Given the description of an element on the screen output the (x, y) to click on. 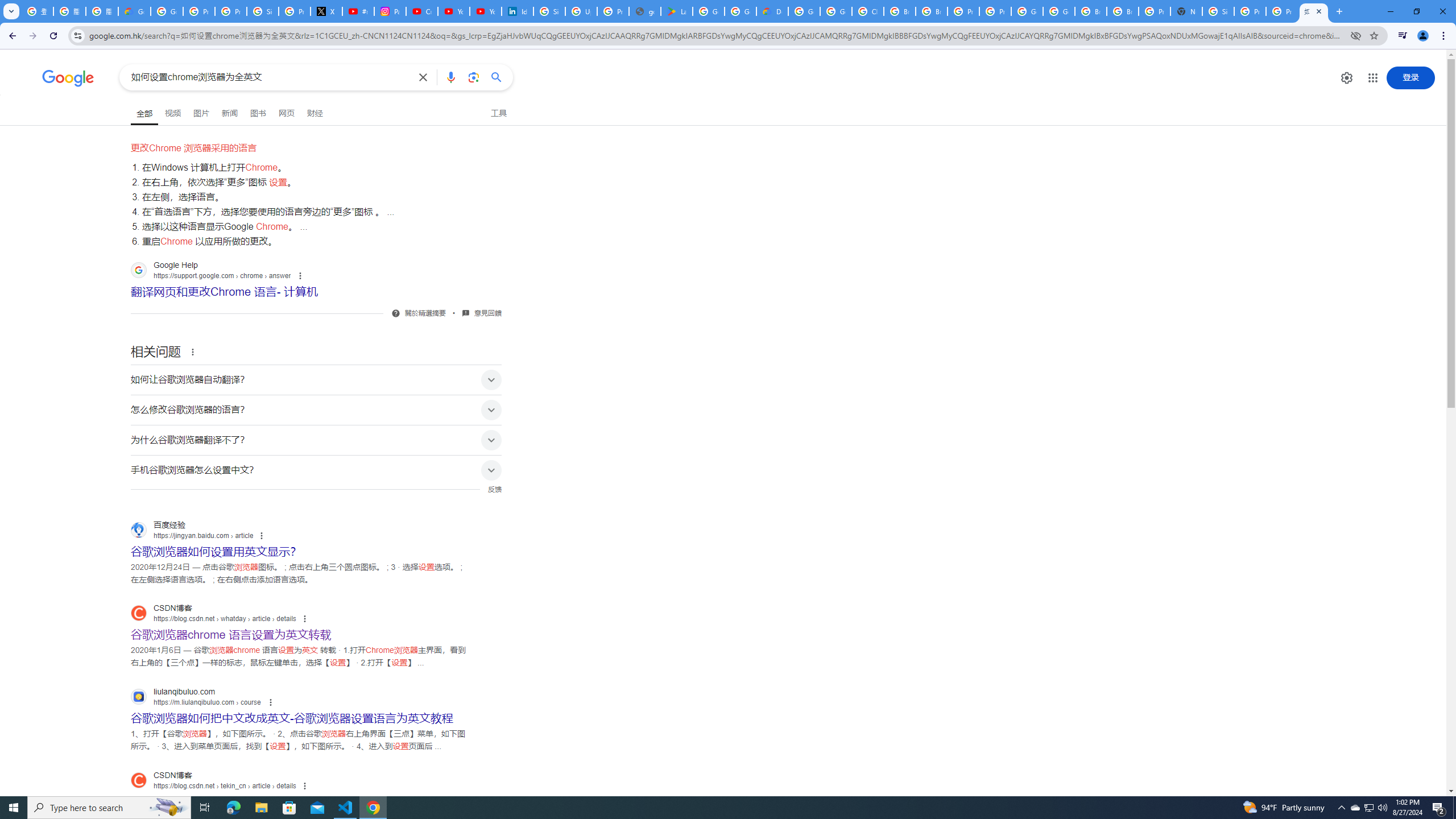
Privacy Help Center - Policies Help (230, 11)
